Given the description of an element on the screen output the (x, y) to click on. 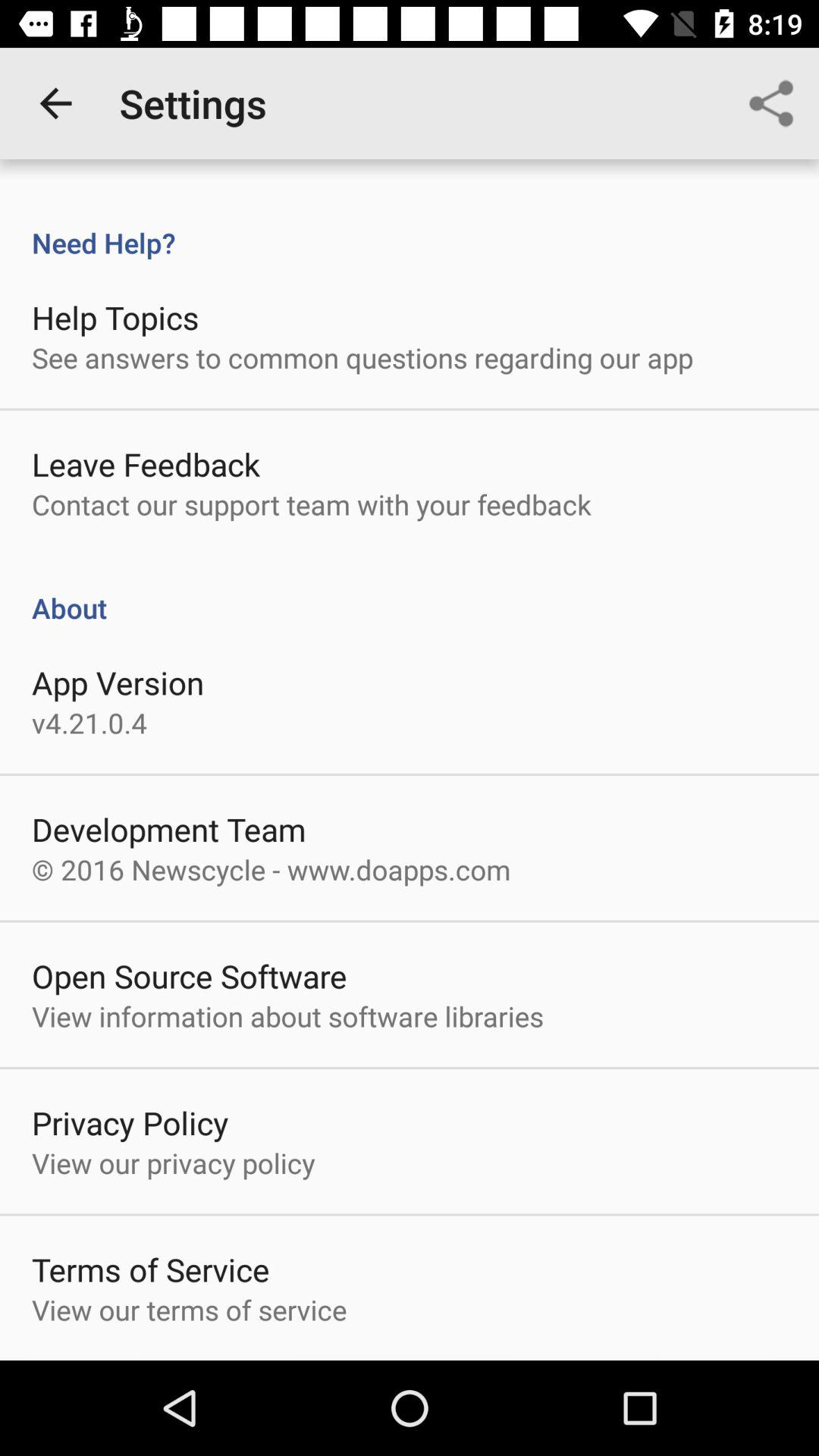
scroll until v4 21 0 (89, 722)
